Given the description of an element on the screen output the (x, y) to click on. 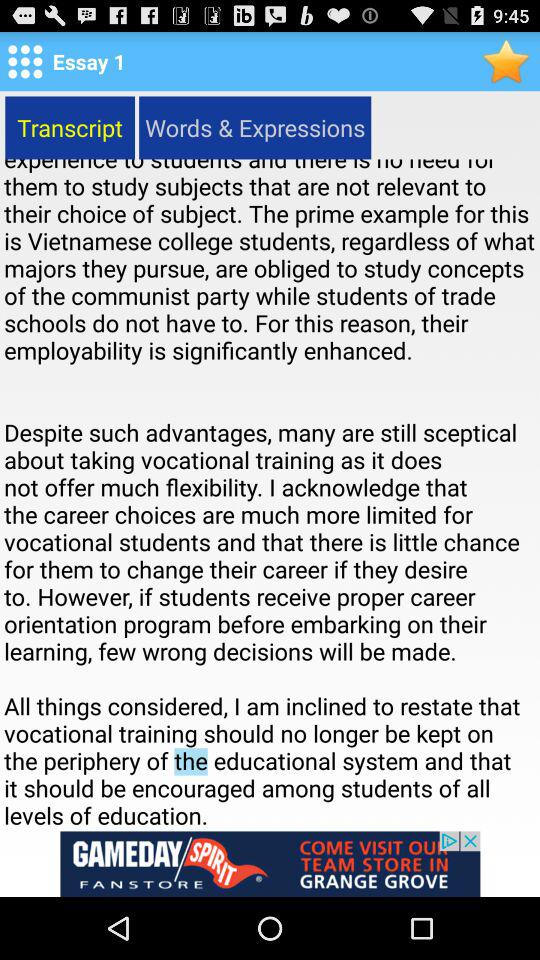
advertisement (270, 864)
